Given the description of an element on the screen output the (x, y) to click on. 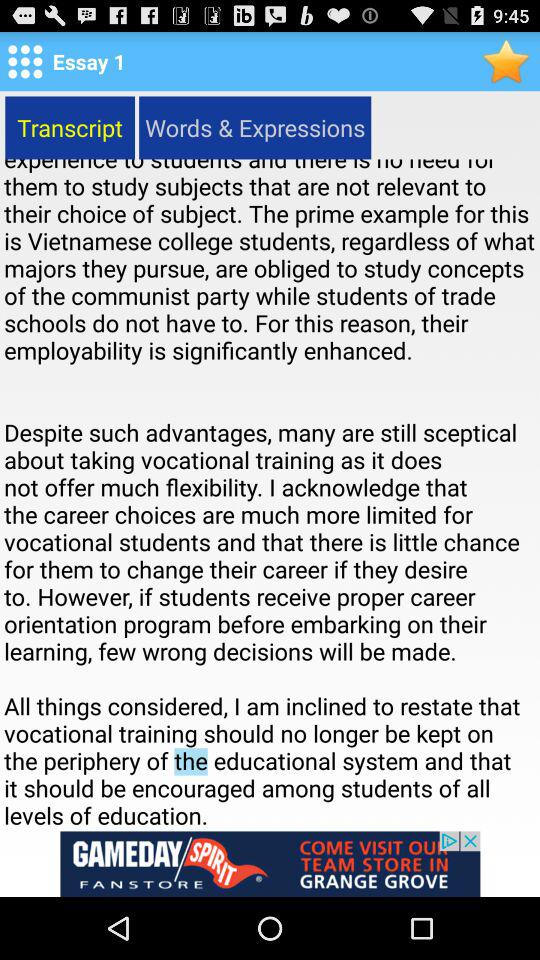
advertisement (270, 864)
